Given the description of an element on the screen output the (x, y) to click on. 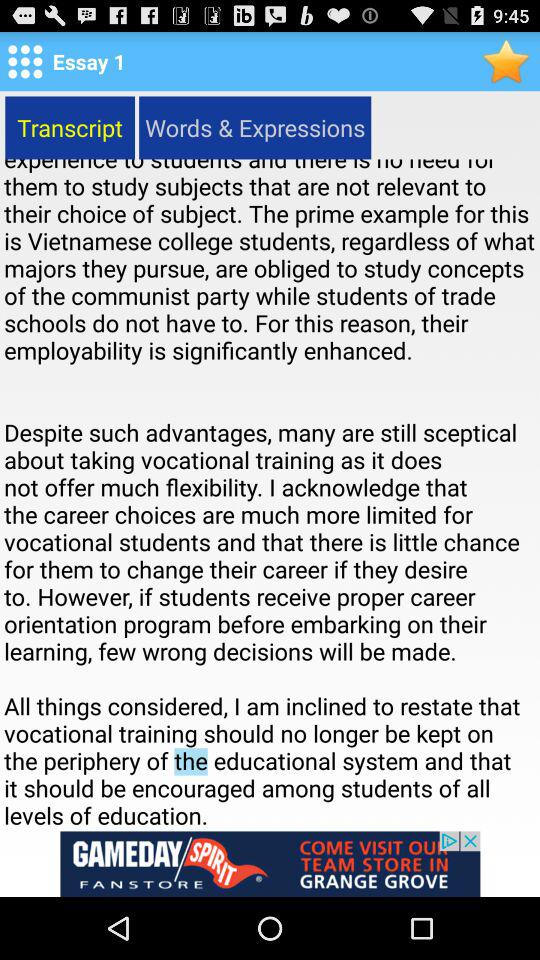
advertisement (270, 864)
